Given the description of an element on the screen output the (x, y) to click on. 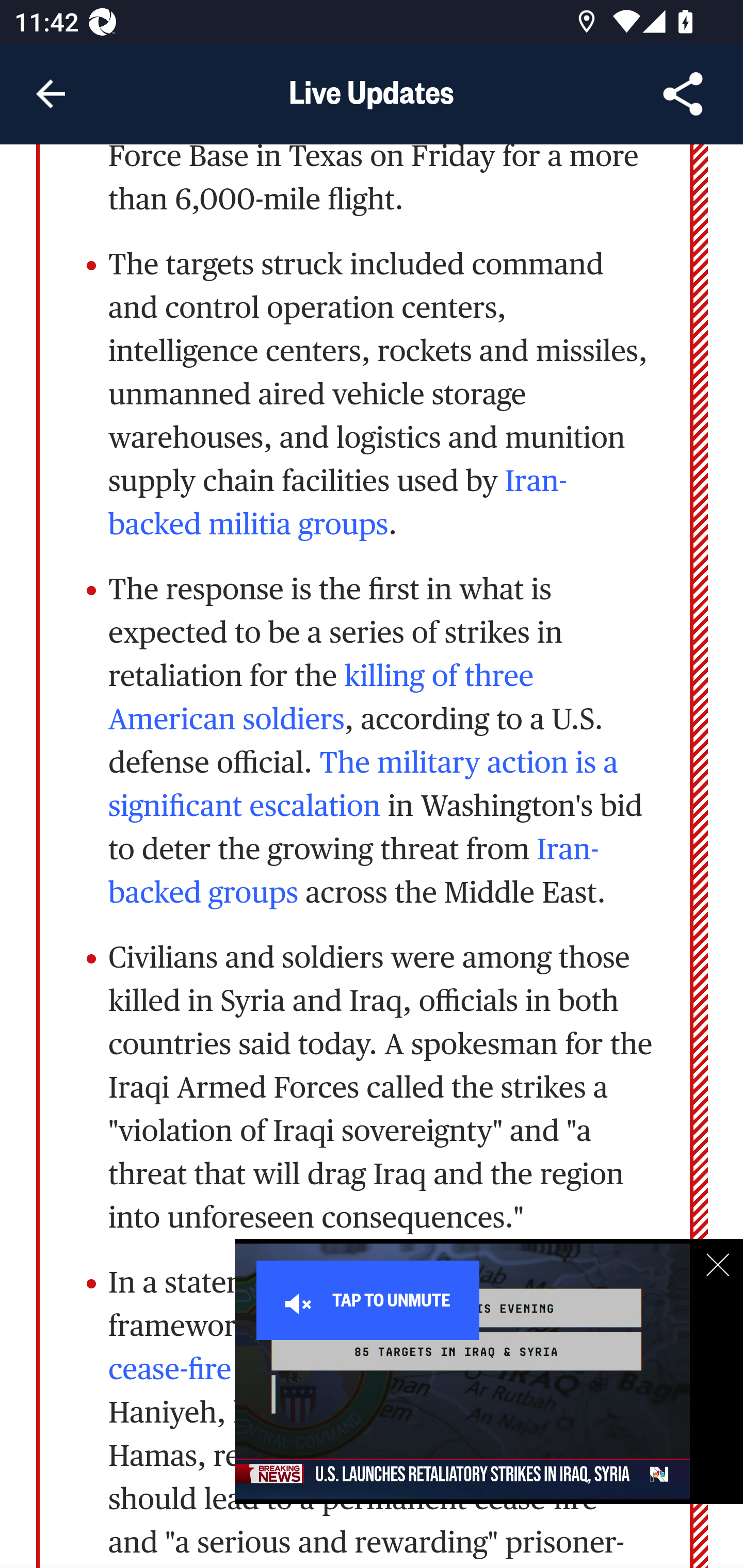
Navigate up (50, 93)
Share Article, button (683, 94)
Iran-backed militia groups (338, 503)
killing of three American soldiers (321, 698)
The military action is a significant escalation (363, 784)
Iran-backed groups (353, 871)
